Given the description of an element on the screen output the (x, y) to click on. 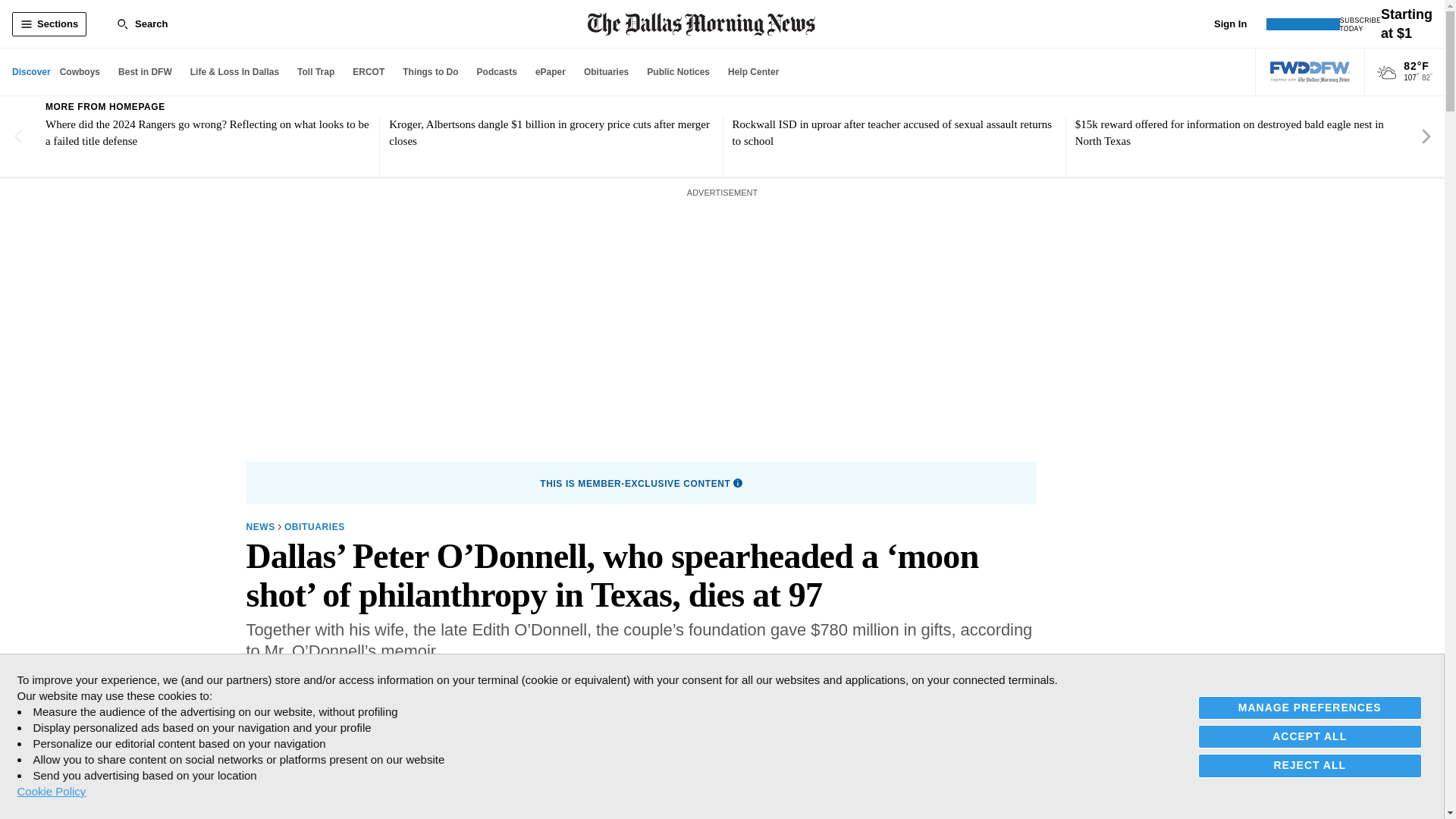
REJECT ALL (1310, 765)
ACCEPT ALL (1310, 736)
Cookie Policy (50, 790)
MANAGE PREFERENCES (1310, 707)
Broken clouds (1386, 72)
FWD DFW, Together with The Dallas Morning News (1310, 72)
